Given the description of an element on the screen output the (x, y) to click on. 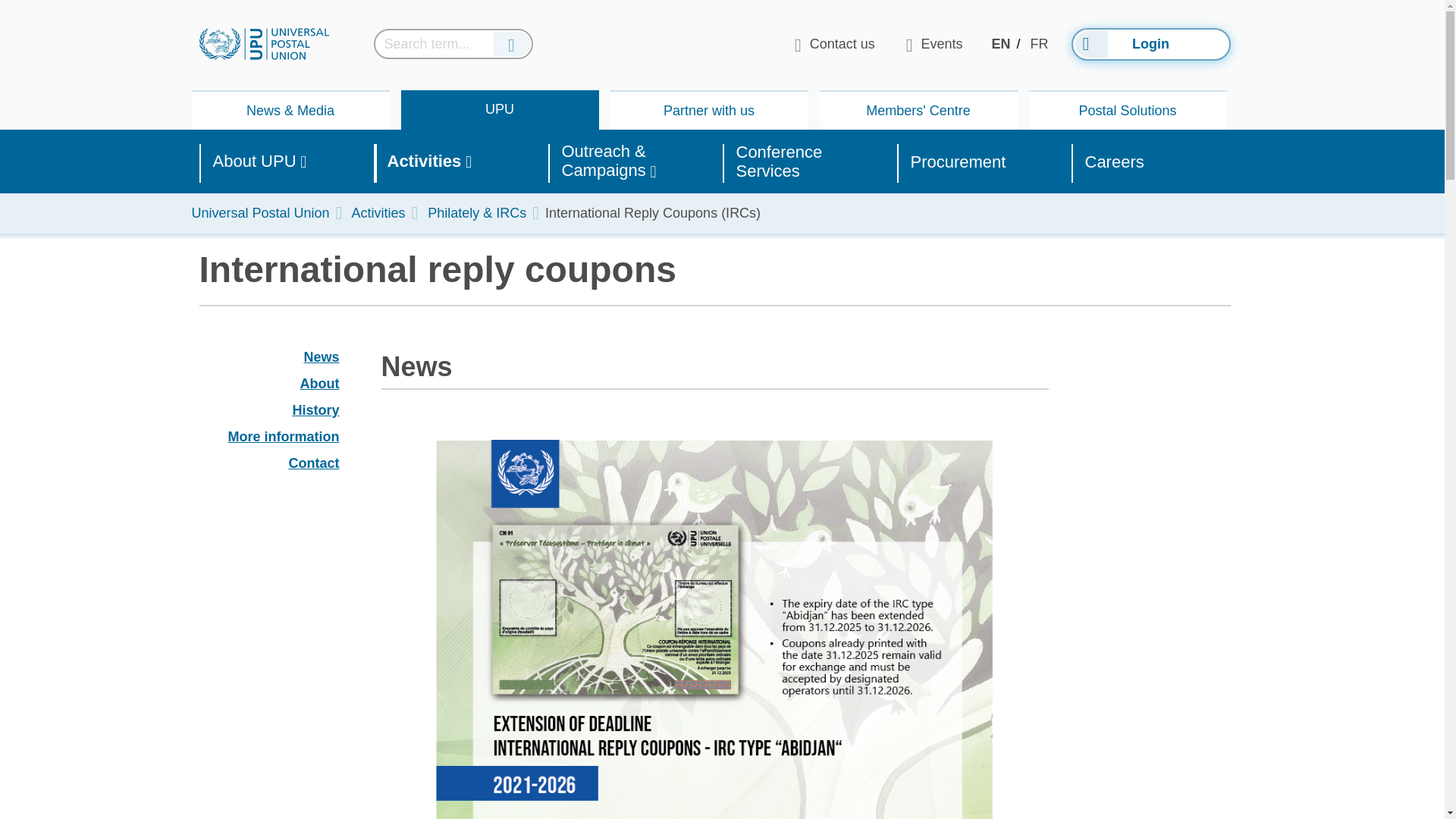
Contact us (834, 43)
Partner with us (708, 110)
Contact (313, 462)
Contact (268, 463)
Login (1150, 43)
Postal Solutions (1126, 110)
EN (1000, 43)
UPU (268, 410)
Members' Centre (499, 108)
History (918, 110)
More information (315, 409)
News (268, 436)
FR (320, 356)
Search term... (1039, 43)
